Given the description of an element on the screen output the (x, y) to click on. 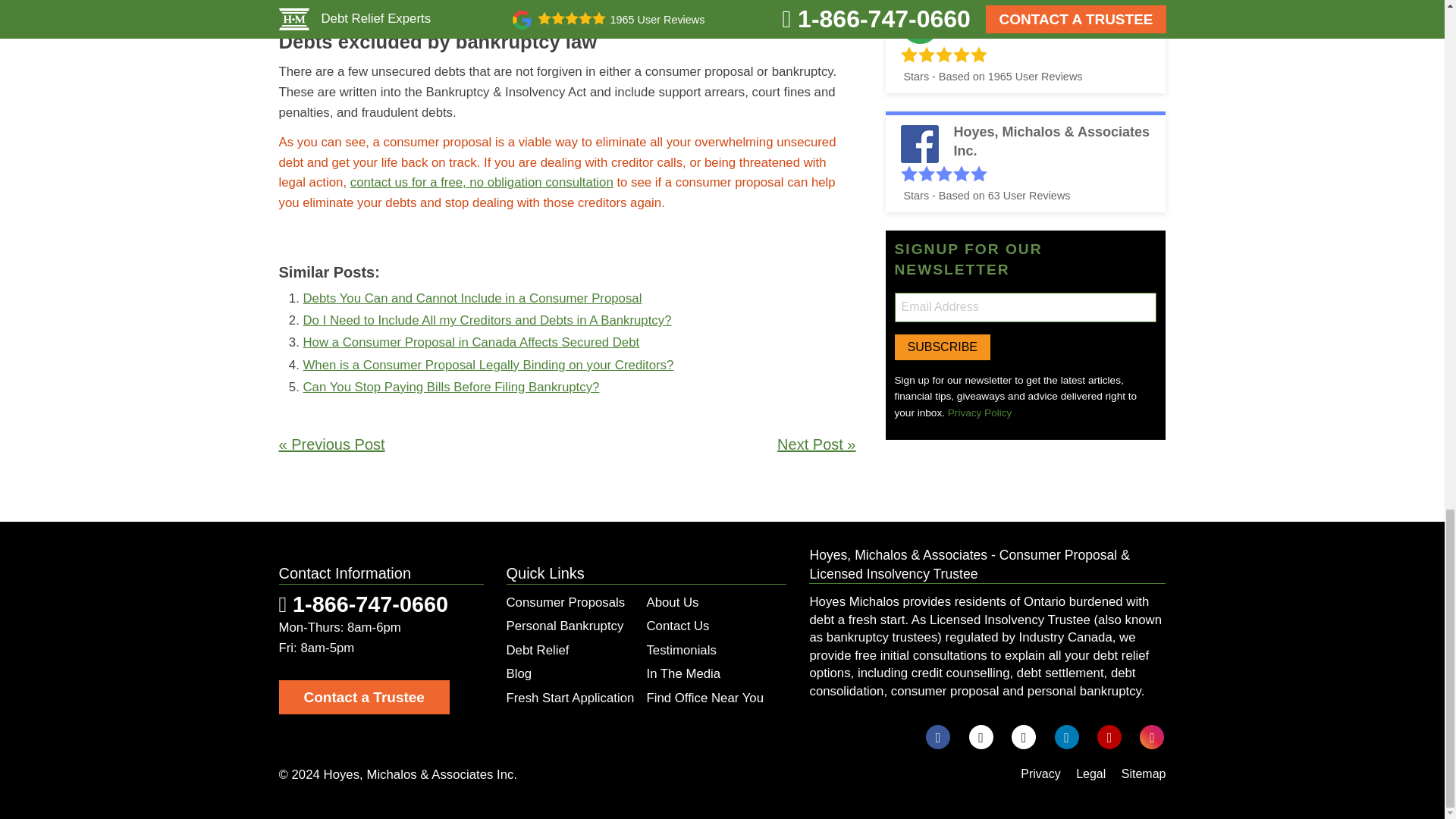
Can You Stop Paying Bills Before Filing Bankruptcy? (450, 386)
Visit our TikTok page (1023, 736)
Subscribe (942, 347)
Visit our Facebook page (938, 736)
contact us for a free, no obligation consultation (481, 182)
Can You Stop Paying Bills Before Filing Bankruptcy? (450, 386)
How a Consumer Proposal in Canada Affects Secured Debt (471, 341)
Visit our LinkedIn page (1066, 736)
Debts You Can and Cannot Include in a Consumer Proposal (472, 298)
Debts You Can and Cannot Include in a Consumer Proposal (472, 298)
Visit our Twitter page (980, 736)
